Given the description of an element on the screen output the (x, y) to click on. 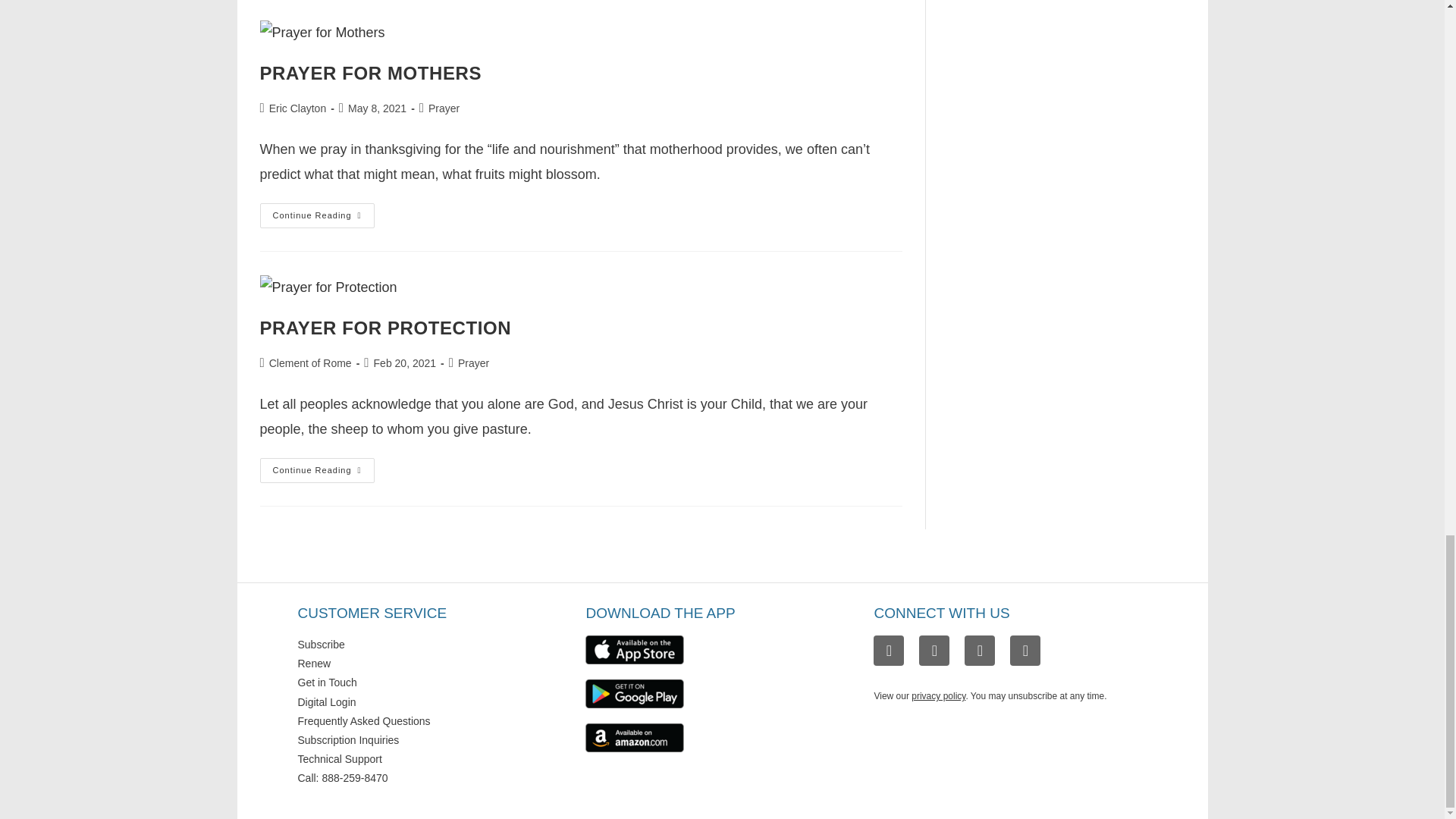
amazon-app-store.png (634, 737)
Posts by Clement of Rome (310, 363)
google-play.png (634, 693)
apple-app-store.png (634, 649)
Posts by Eric Clayton (297, 108)
